Given the description of an element on the screen output the (x, y) to click on. 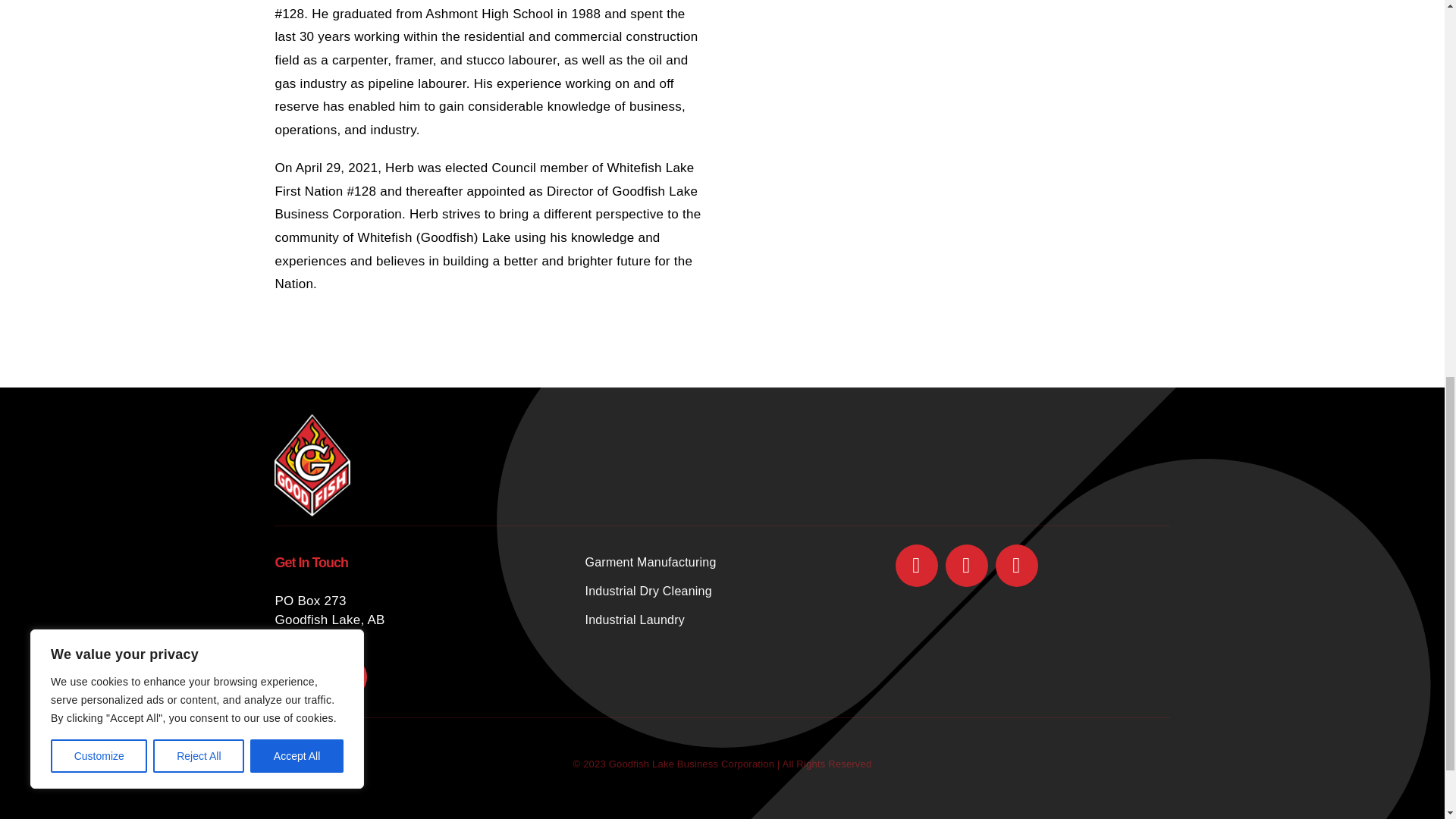
Garment Manufacturing (722, 562)
Customize (98, 6)
Industrial Dry Cleaning (722, 591)
Accept All (296, 6)
Reject All (198, 6)
